Given the description of an element on the screen output the (x, y) to click on. 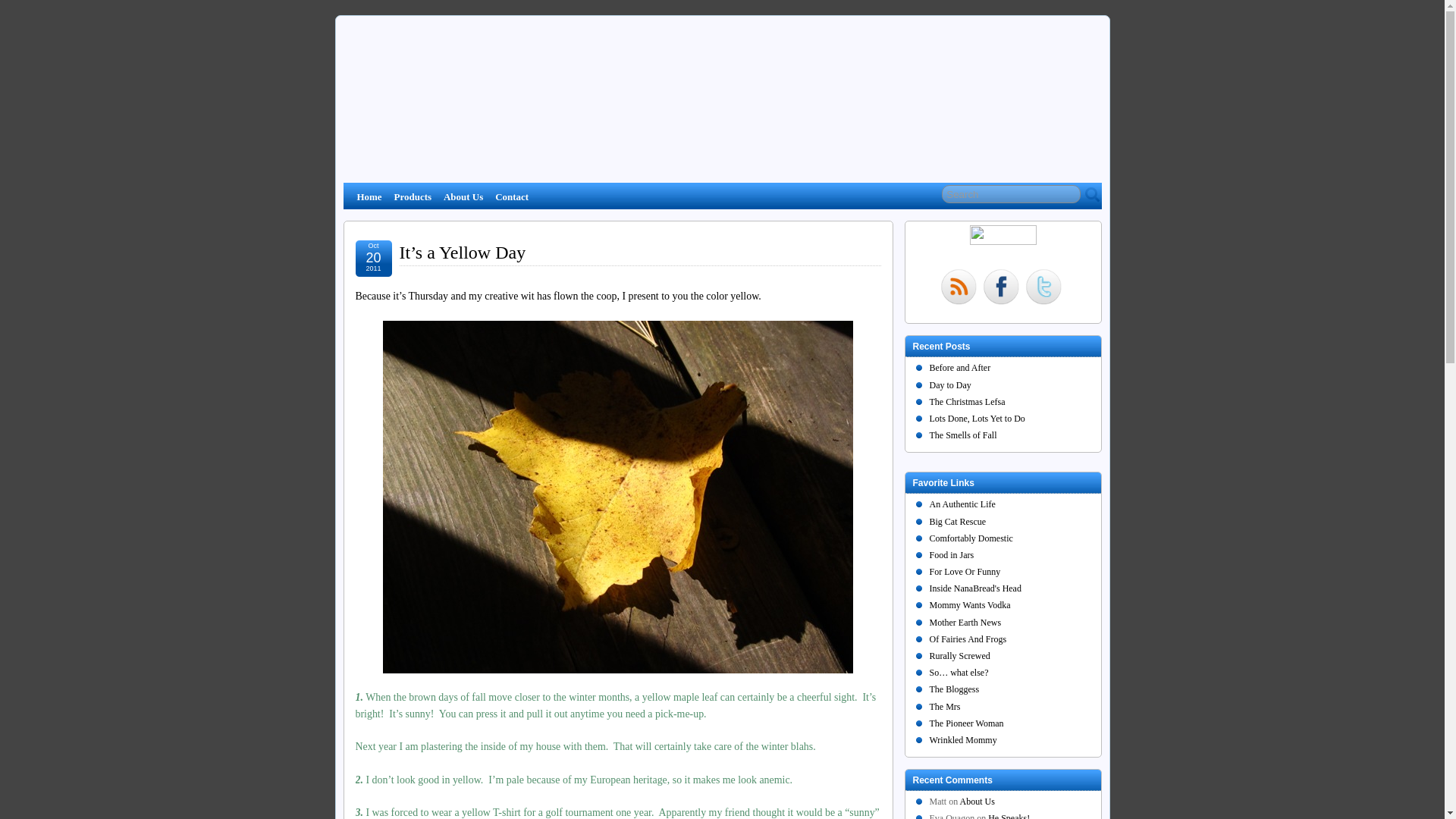
RSS (958, 288)
Comfortably Domestic (971, 538)
Facebook (1000, 288)
Lots Done, Lots Yet to Do (977, 418)
Before and After (960, 367)
Day to Day (950, 385)
Products (413, 195)
For Love Or Funny (965, 571)
Search (1011, 194)
About Us (463, 195)
